Given the description of an element on the screen output the (x, y) to click on. 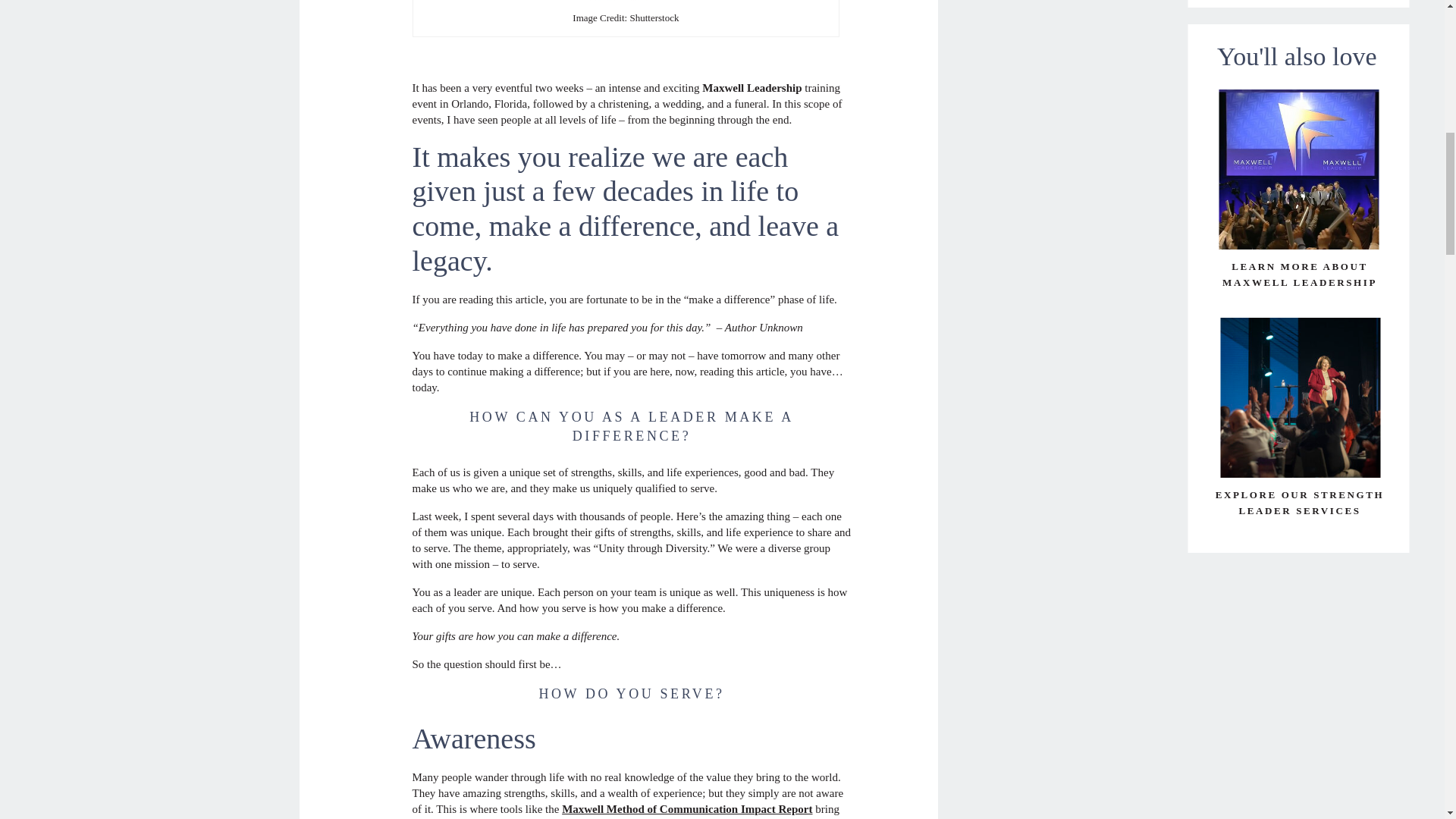
EXPLORE OUR STRENGTH LEADER SERVICES (1300, 501)
LEARN MORE ABOUT MAXWELL LEADERSHIP (1300, 274)
The Three-Part Legacy Formula (625, 3)
